Given the description of an element on the screen output the (x, y) to click on. 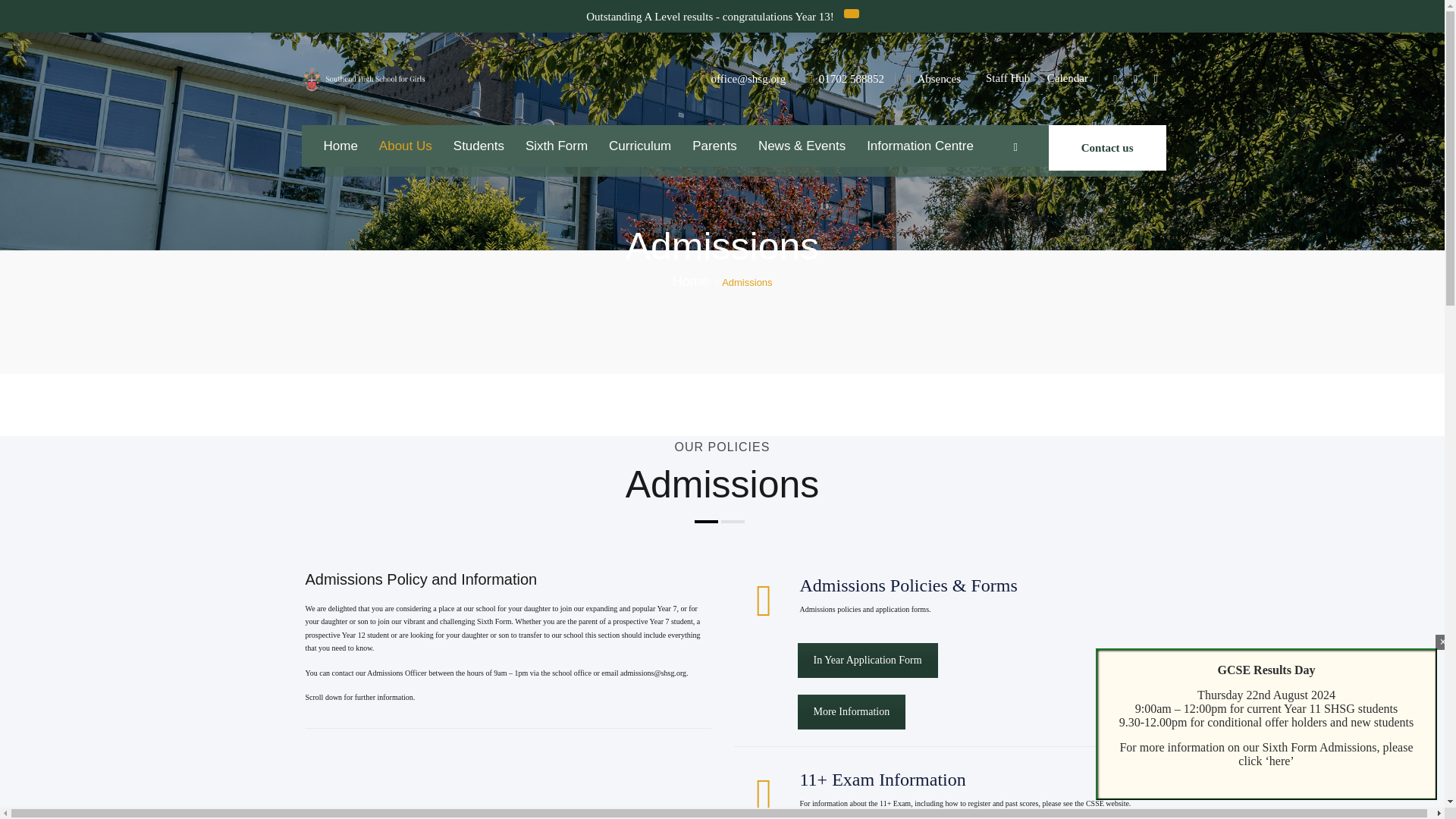
About Us (405, 146)
Calendar (1066, 78)
Students (478, 146)
Go to Southend High School for Girls. (689, 281)
Staff Hub (1007, 78)
Home (340, 146)
Absences (938, 78)
Southend High School for Girls (364, 79)
01702 588852 (850, 78)
